Given the description of an element on the screen output the (x, y) to click on. 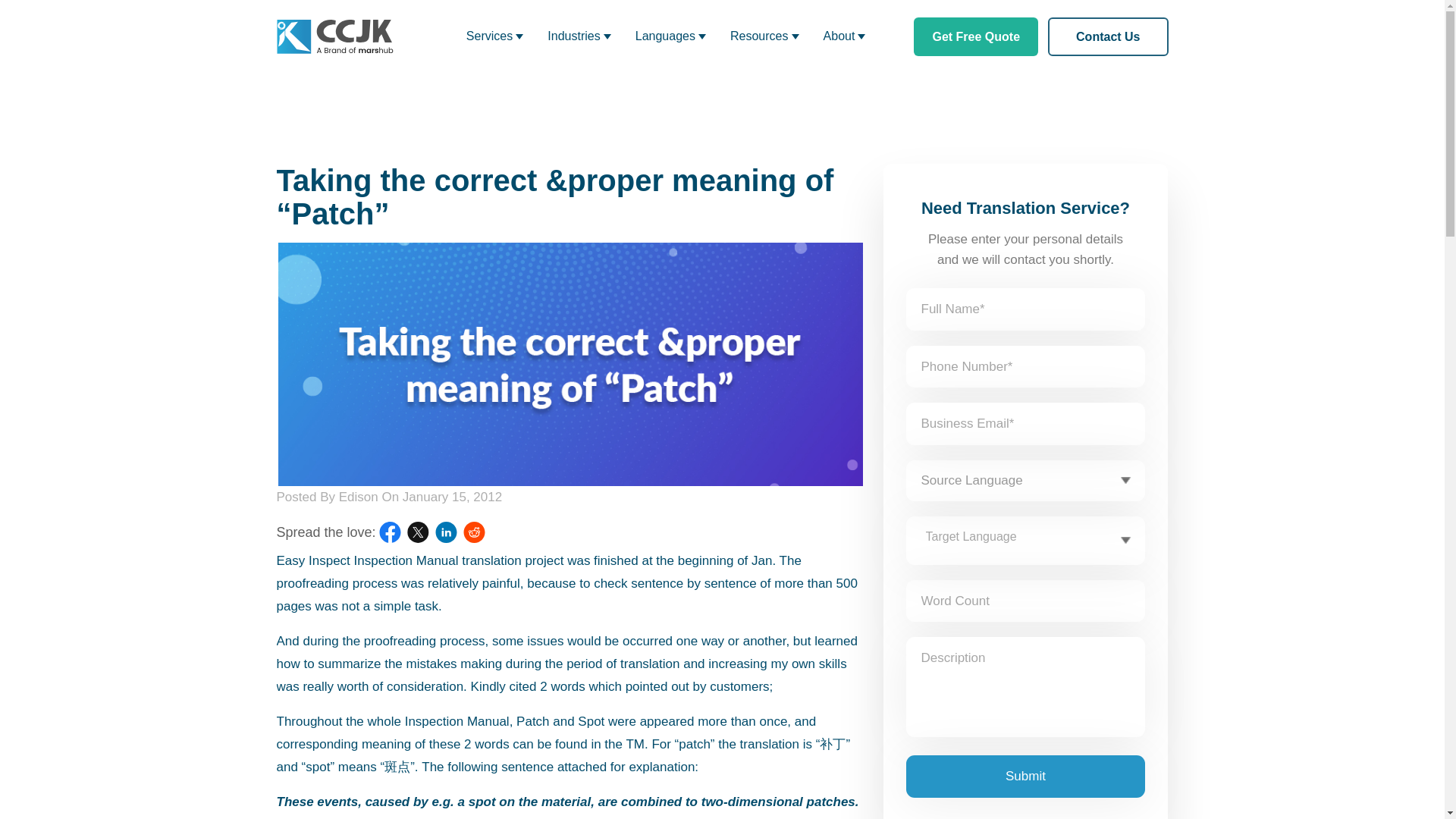
Languages (669, 36)
Tweet this (418, 531)
Services (494, 36)
Industries (578, 36)
Submit (1024, 776)
